Given the description of an element on the screen output the (x, y) to click on. 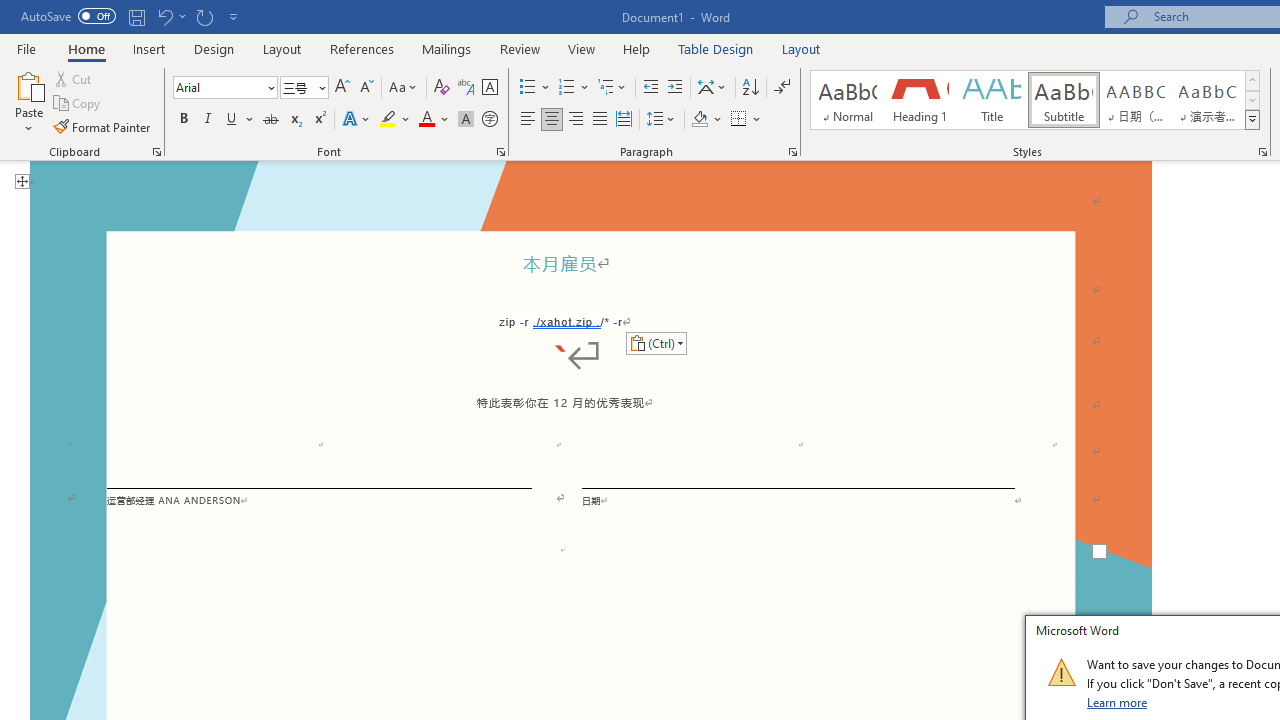
Text Highlight Color (395, 119)
Font Size (297, 87)
Bold (183, 119)
Sort... (750, 87)
Asian Layout (712, 87)
Help (637, 48)
Underline (232, 119)
Text Highlight Color Yellow (388, 119)
Borders (746, 119)
Character Border (489, 87)
Increase Indent (675, 87)
Font (224, 87)
Shading RGB(0, 0, 0) (699, 119)
Action: Paste alternatives (656, 342)
